Given the description of an element on the screen output the (x, y) to click on. 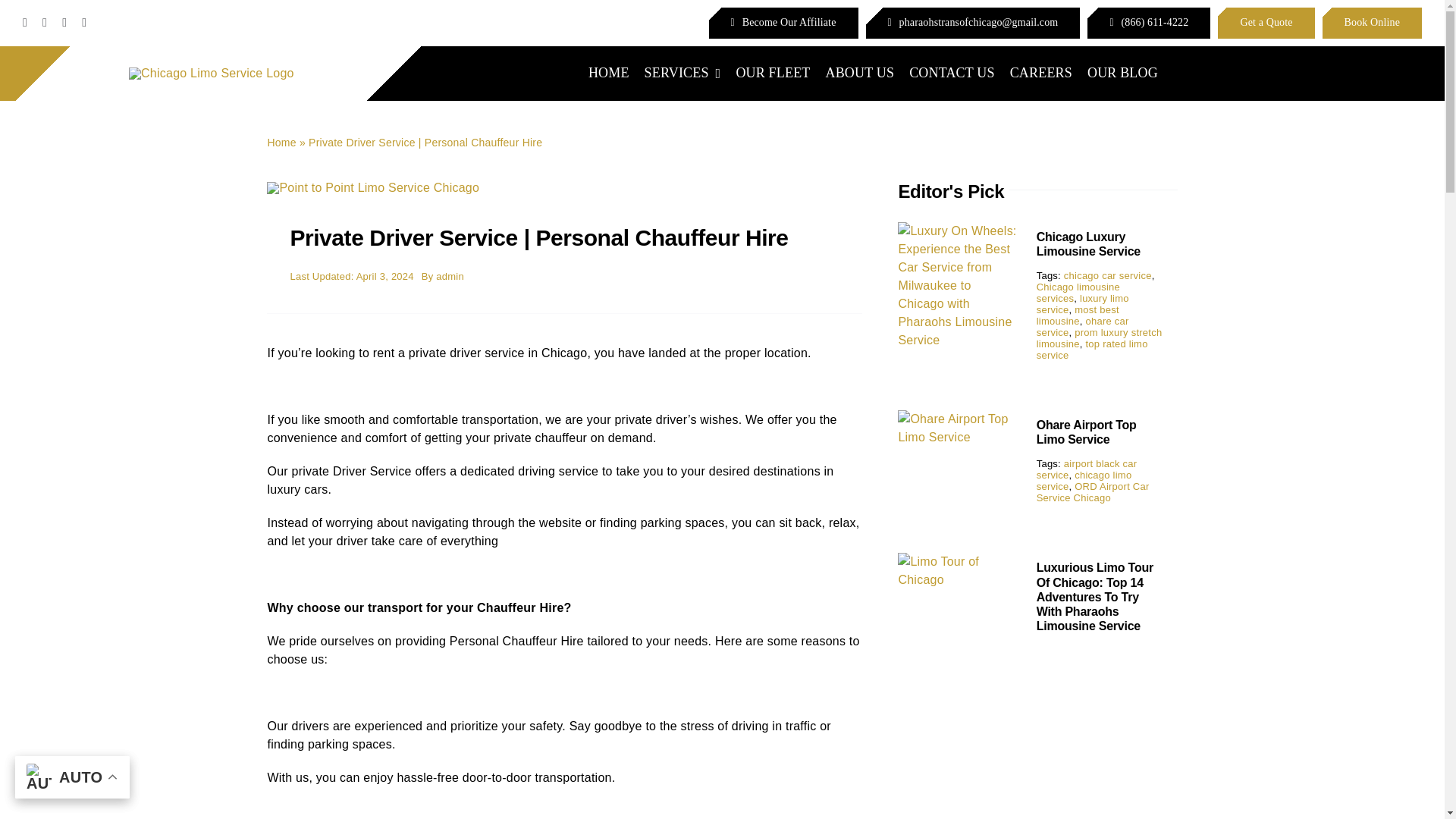
Book Online (1372, 22)
Become Our Affiliate (784, 22)
Posts by admin (449, 276)
Get a Quote (1265, 22)
